Given the description of an element on the screen output the (x, y) to click on. 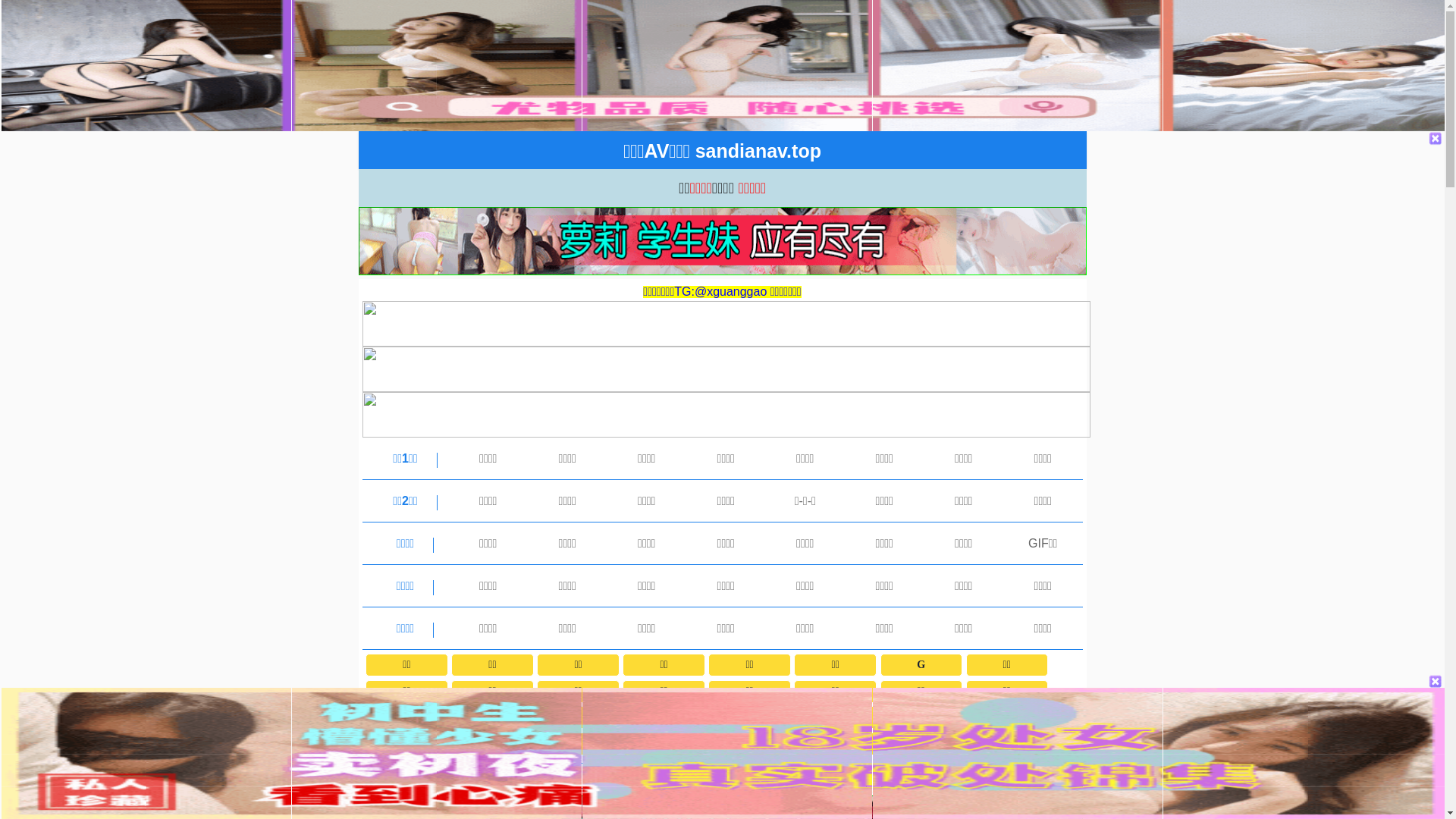
G Element type: text (921, 664)
97 Element type: text (834, 743)
